Given the description of an element on the screen output the (x, y) to click on. 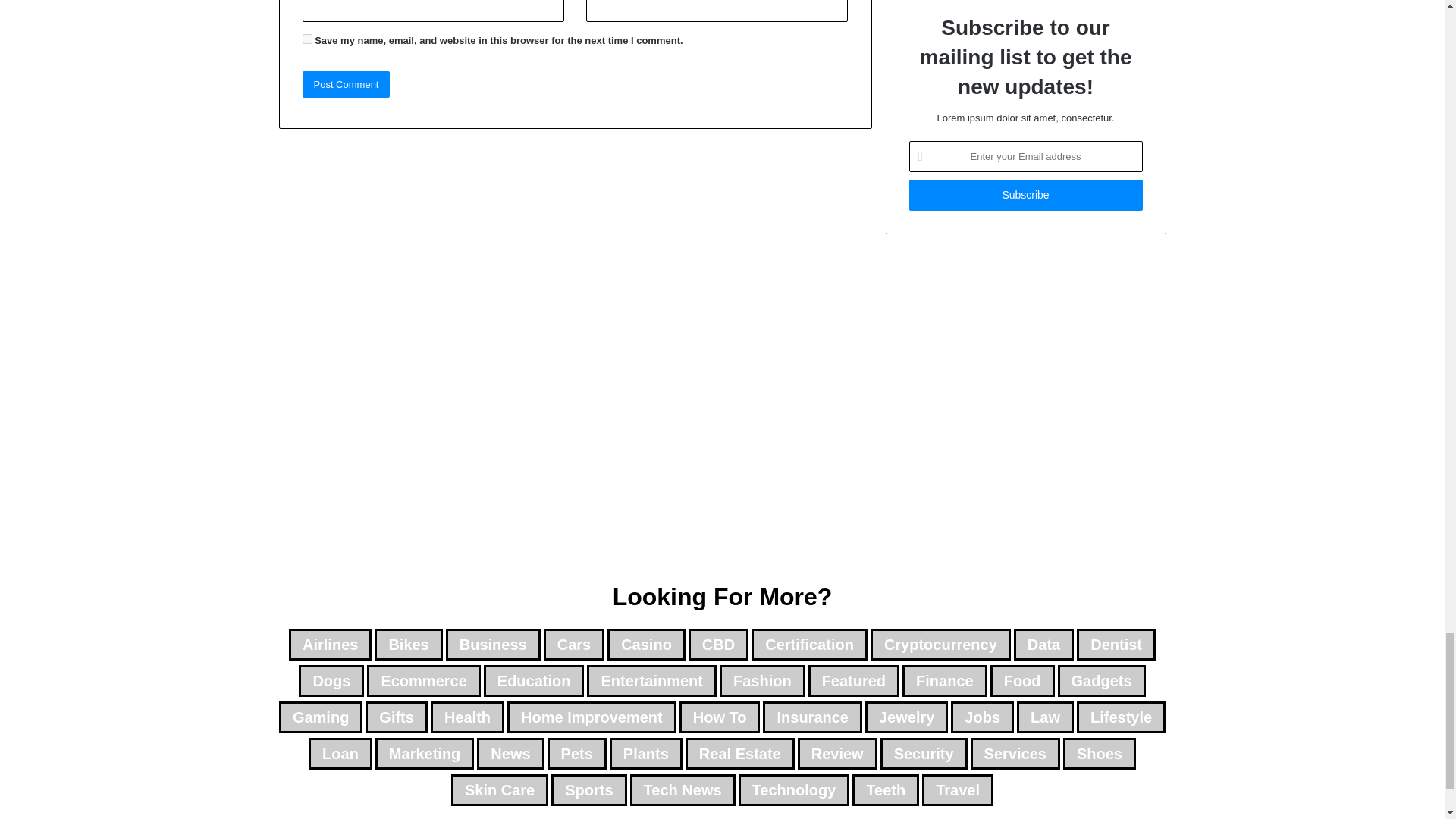
Post Comment (345, 84)
yes (306, 39)
Subscribe (1025, 194)
